Given the description of an element on the screen output the (x, y) to click on. 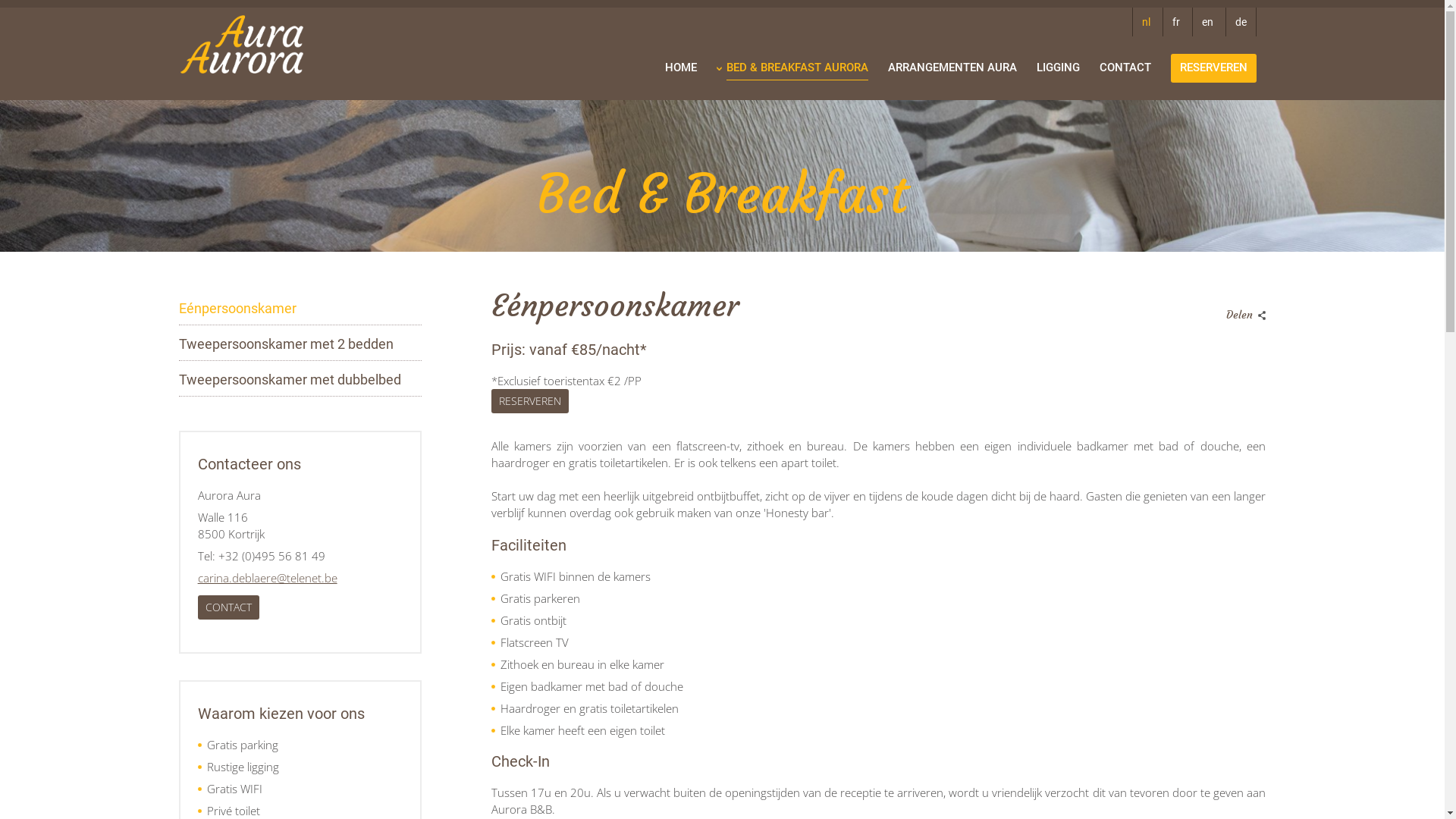
en Element type: text (1207, 21)
RESERVEREN Element type: text (529, 401)
nl Element type: text (1145, 21)
carina.deblaere@telenet.be Element type: text (267, 577)
CONTACT Element type: text (228, 607)
LIGGING Element type: text (1057, 66)
de Element type: text (1240, 21)
Bed & Breakfast Element type: hover (722, 175)
fr Element type: text (1175, 21)
RESERVEREN Element type: text (1213, 67)
HOME Element type: text (680, 66)
BED & BREAKFAST AURORA Element type: text (797, 65)
ARRANGEMENTEN AURA Element type: text (952, 66)
CONTACT Element type: text (1125, 66)
Tweepersoonskamer met 2 bedden Element type: text (285, 344)
Delen Element type: text (1242, 310)
Tweepersoonskamer met dubbelbed Element type: text (289, 379)
Aurora Aura Element type: hover (241, 44)
